Given the description of an element on the screen output the (x, y) to click on. 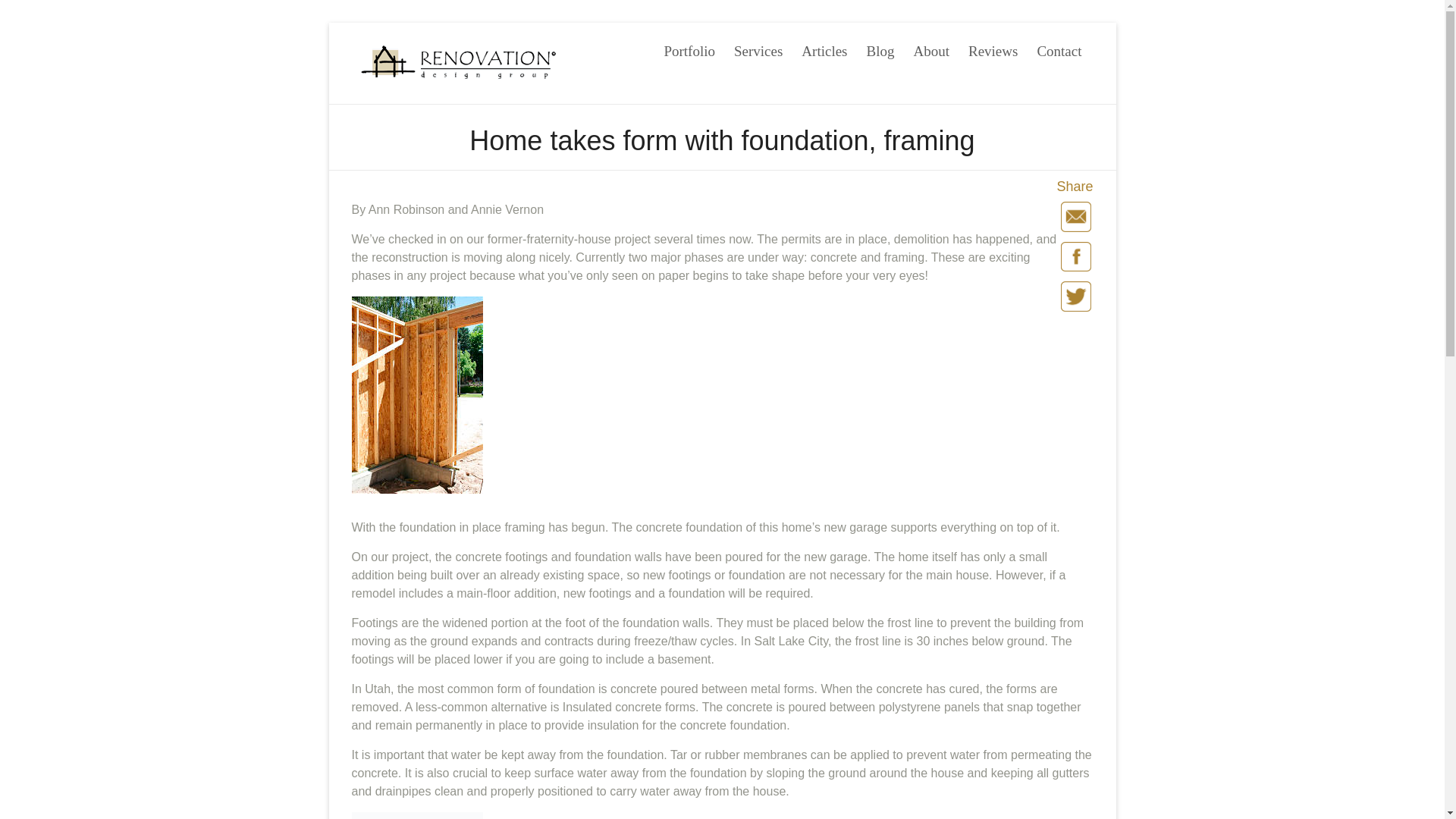
Reviews (992, 47)
Contact (1058, 47)
Blog (879, 47)
Services (758, 47)
About (930, 47)
Renovation Design Group (418, 83)
Renovation Design Group (418, 83)
Portfolio (688, 47)
Articles (824, 47)
